Given the description of an element on the screen output the (x, y) to click on. 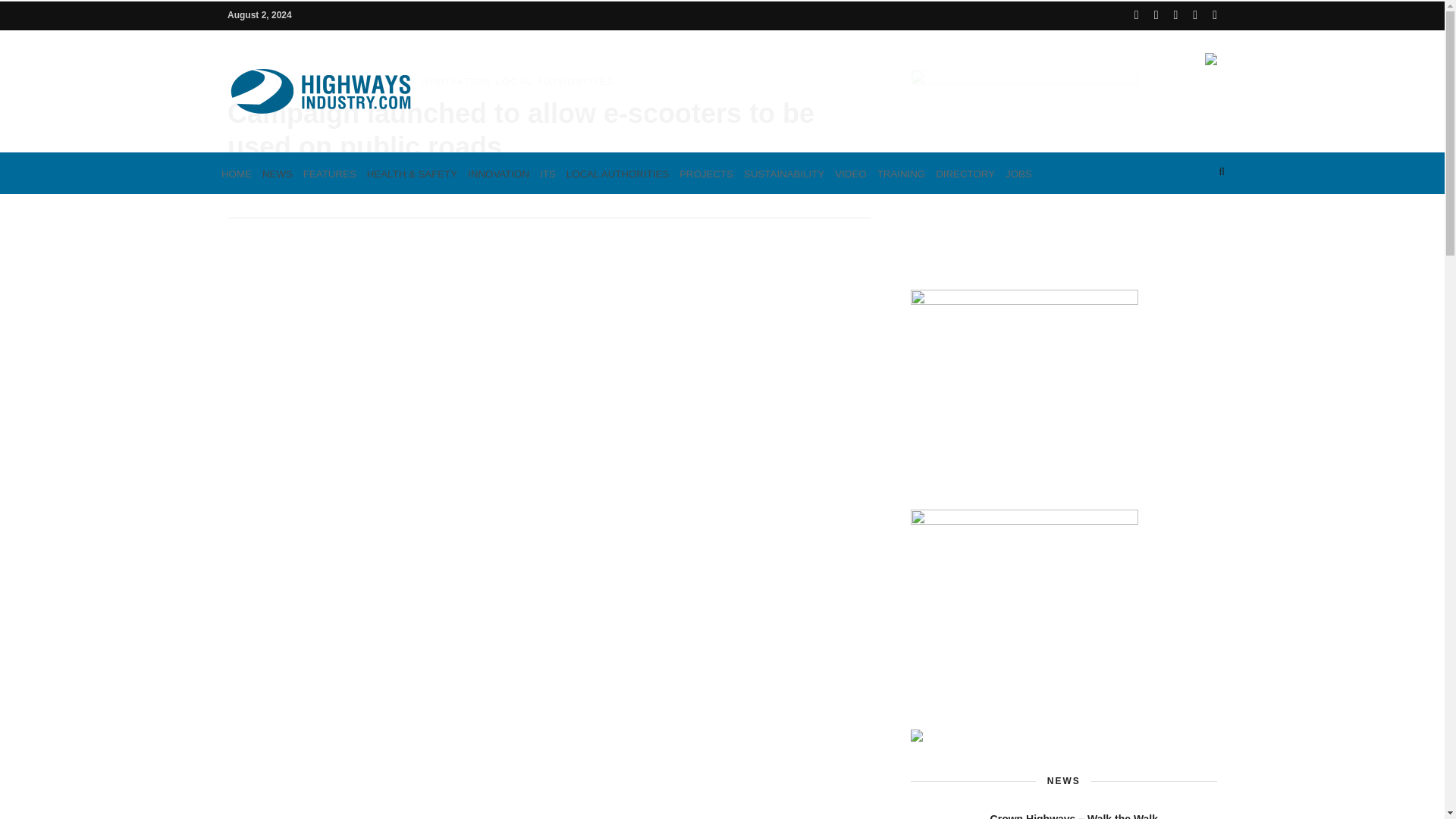
HOME (236, 173)
PROJECTS (706, 173)
DIRECTORY (965, 173)
NEWS (277, 173)
SUSTAINABILITY (783, 173)
VIDEO (849, 173)
INNOVATION (498, 173)
LOCAL AUTHORITIES (617, 173)
FEATURES (329, 173)
TRAINING (901, 173)
